Given the description of an element on the screen output the (x, y) to click on. 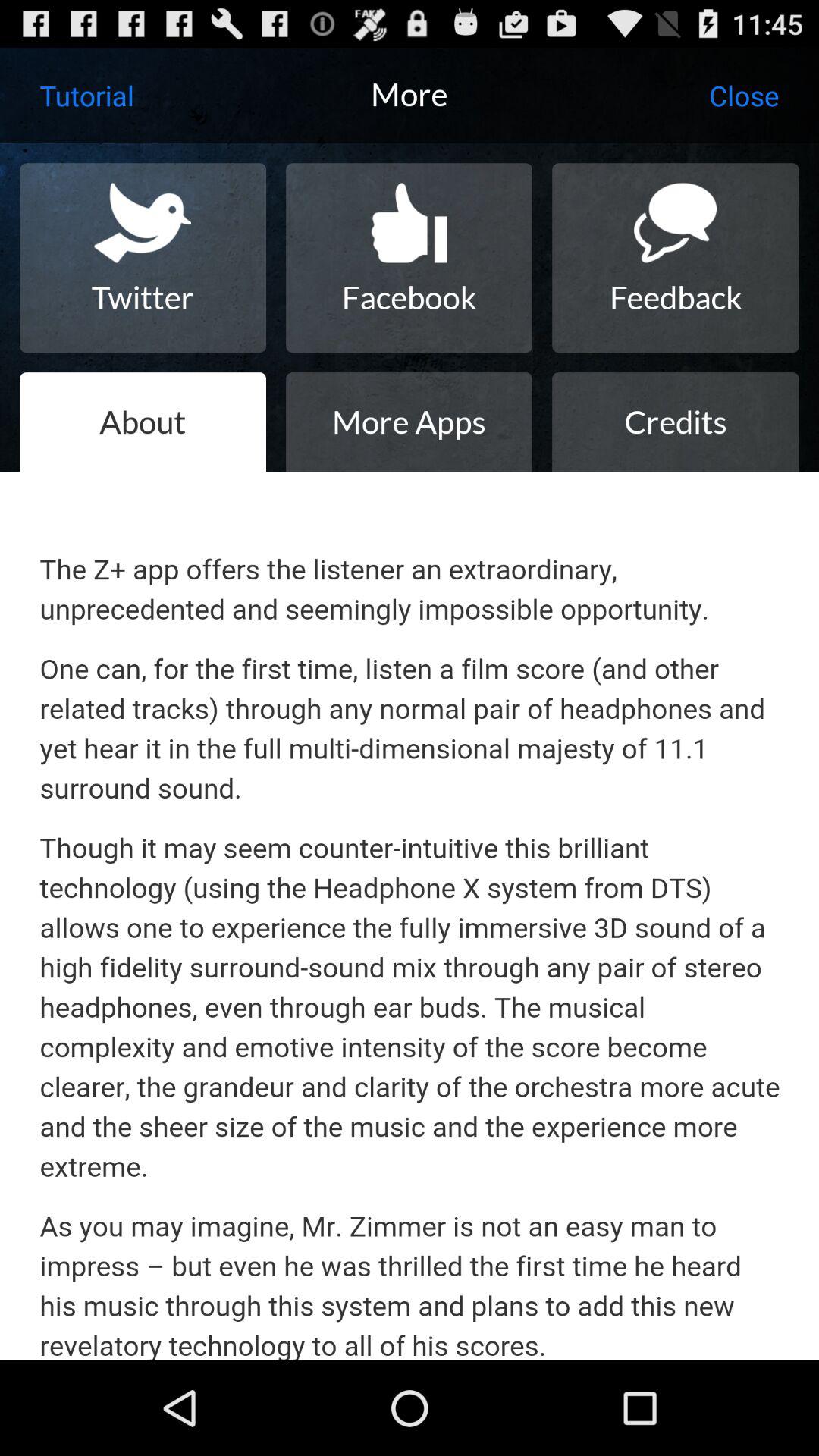
open icon next to facebook icon (675, 257)
